Given the description of an element on the screen output the (x, y) to click on. 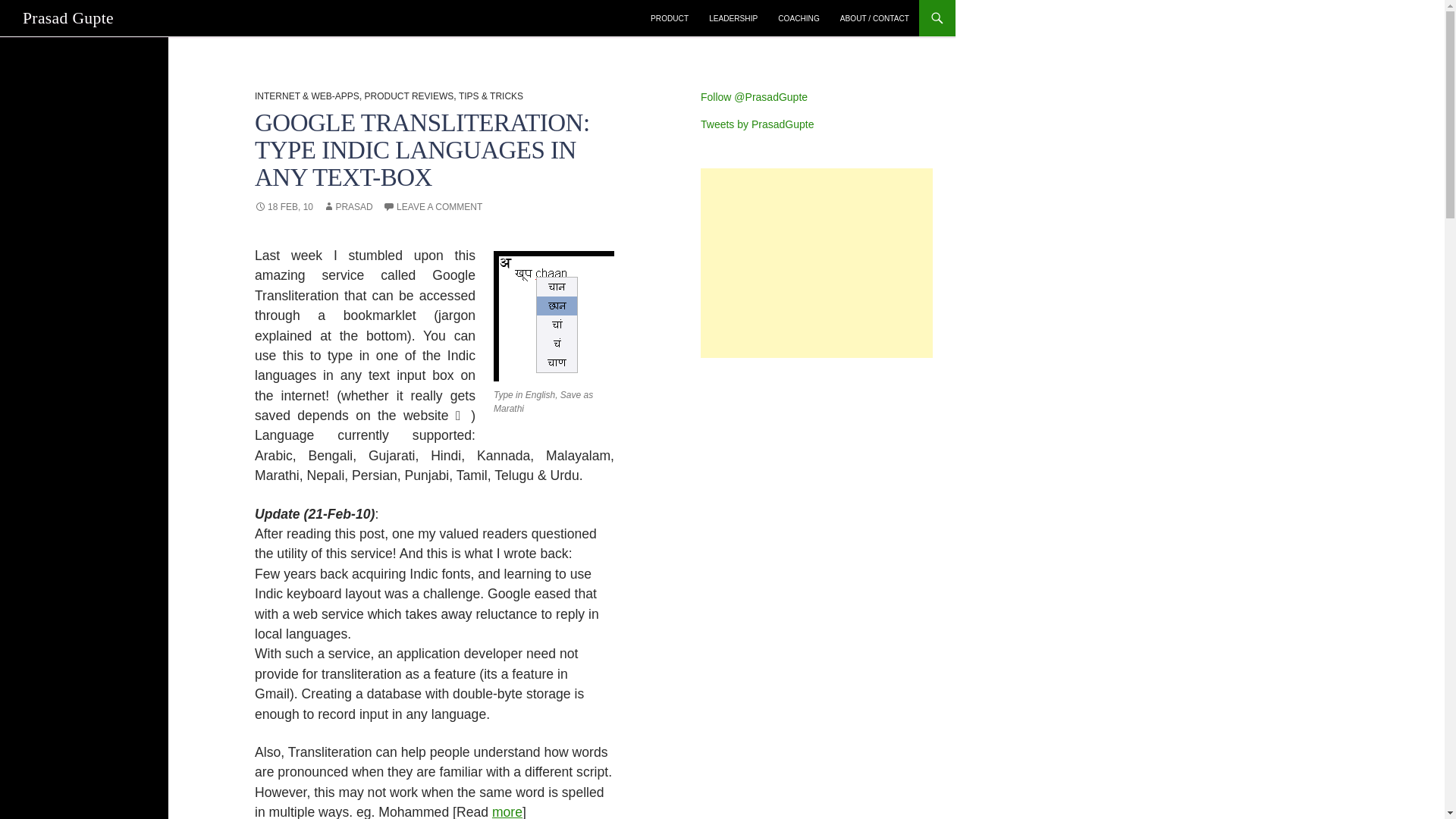
COACHING (798, 18)
18 FEB, 10 (283, 206)
PRASAD (347, 206)
LEADERSHIP (733, 18)
PRODUCT (669, 18)
PRODUCT REVIEWS (408, 95)
Prasad Gupte (68, 18)
more (507, 811)
LEAVE A COMMENT (431, 206)
Type in English, Save as Marathi (553, 315)
